Given the description of an element on the screen output the (x, y) to click on. 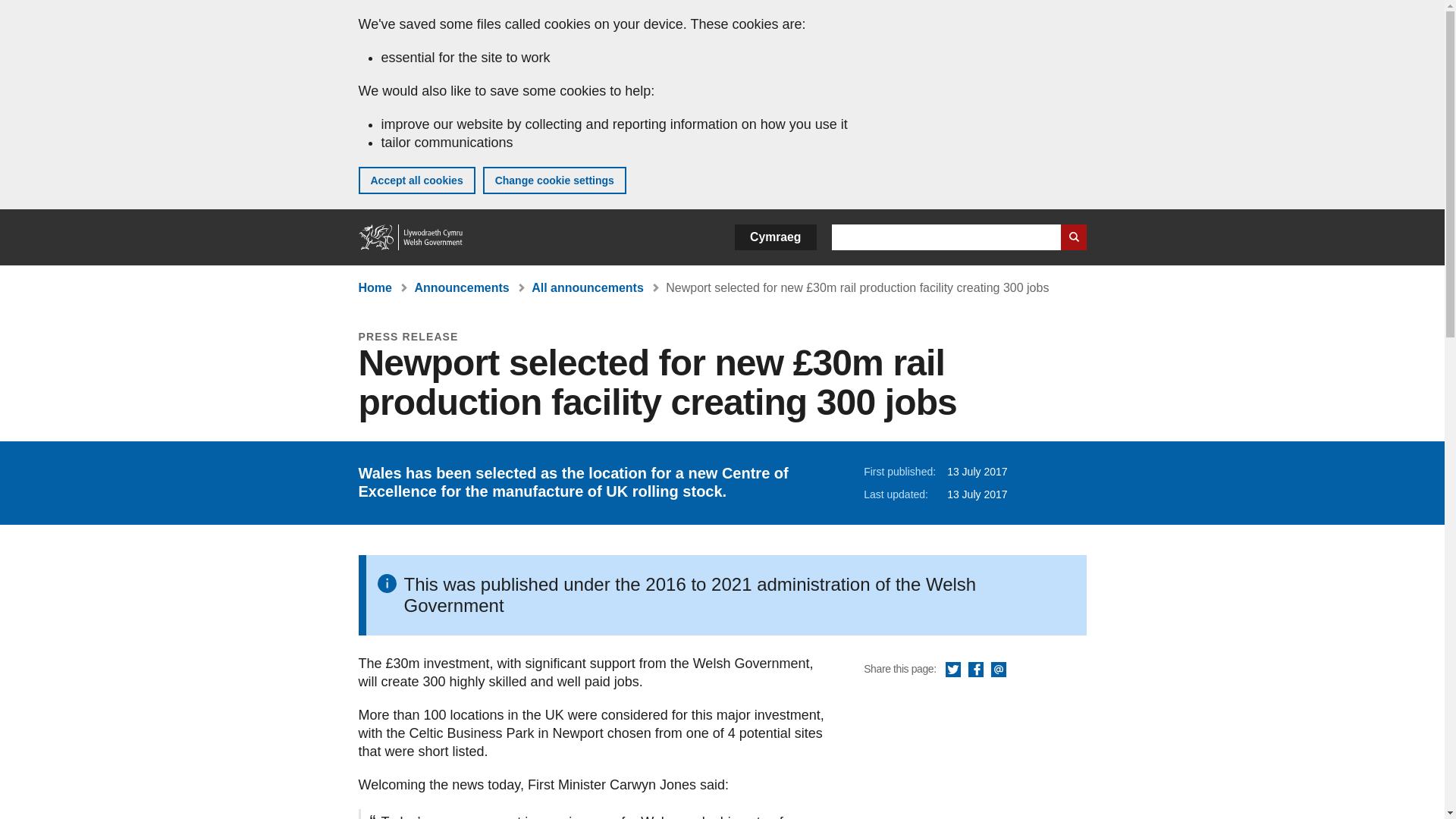
Search website (1072, 237)
Skip to main content (22, 11)
Search website (1072, 237)
Home (374, 287)
Welsh Government (411, 237)
Change cookie settings (554, 180)
All announcements (587, 287)
Facebook (976, 669)
Announcements (460, 287)
Twitter (952, 669)
Home (411, 237)
Cymraeg (775, 237)
Accept all cookies (416, 180)
Email (998, 669)
